Given the description of an element on the screen output the (x, y) to click on. 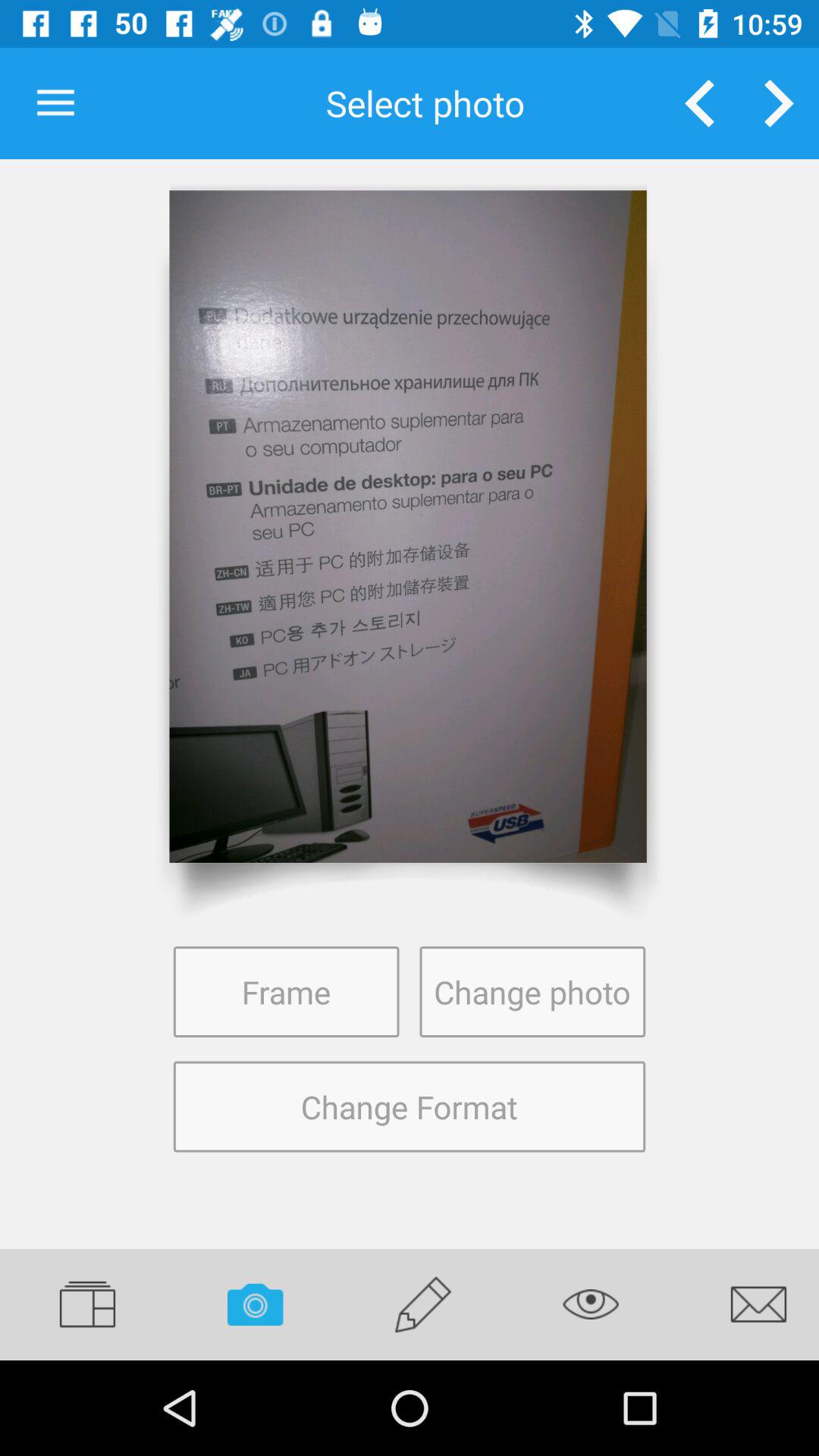
tap the item next to the select photo icon (699, 103)
